Given the description of an element on the screen output the (x, y) to click on. 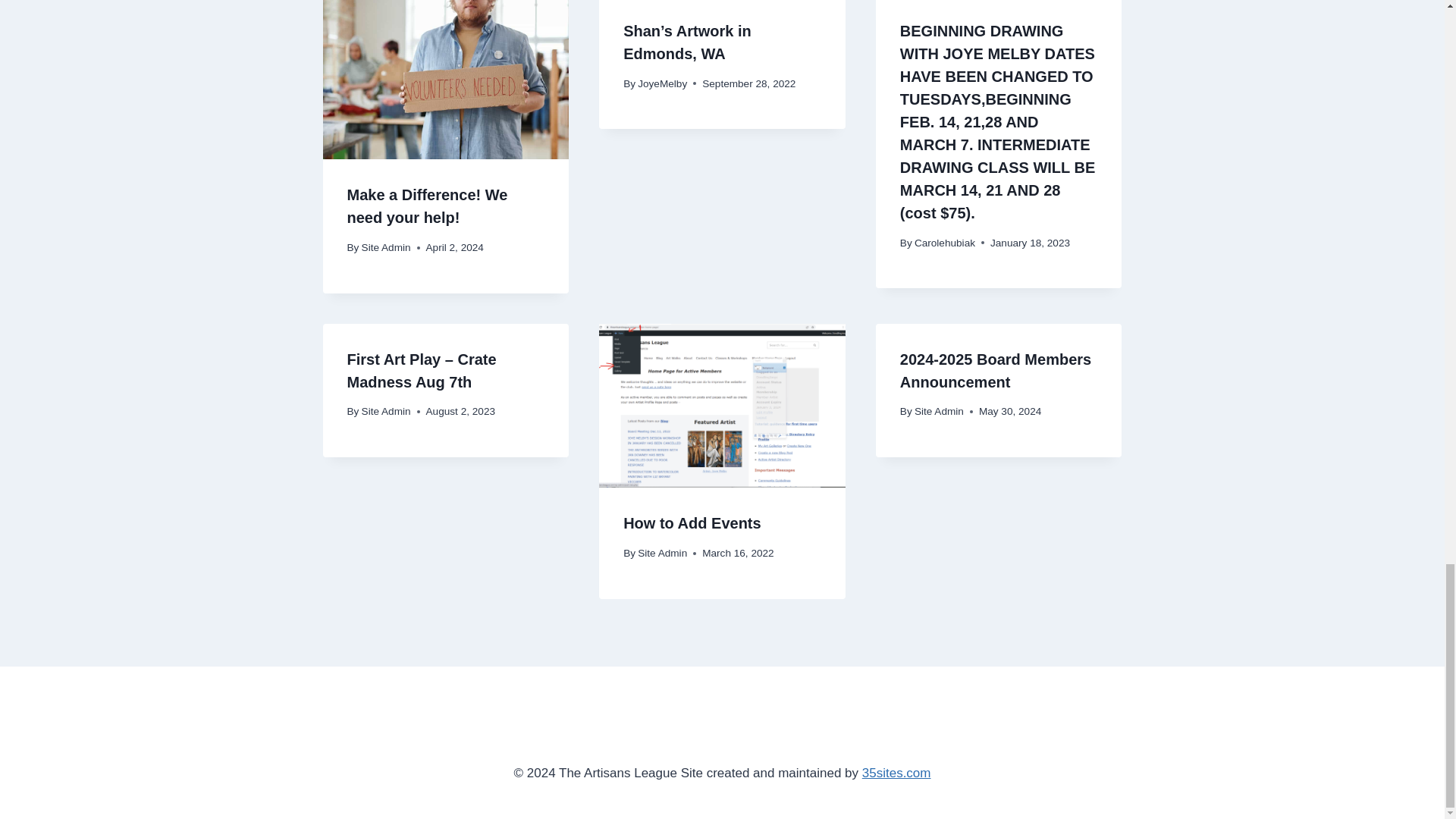
Carolehubiak (944, 242)
JoyeMelby (662, 83)
Site Admin (385, 247)
Make a Difference! We need your help! (427, 206)
Site Admin (385, 410)
